Given the description of an element on the screen output the (x, y) to click on. 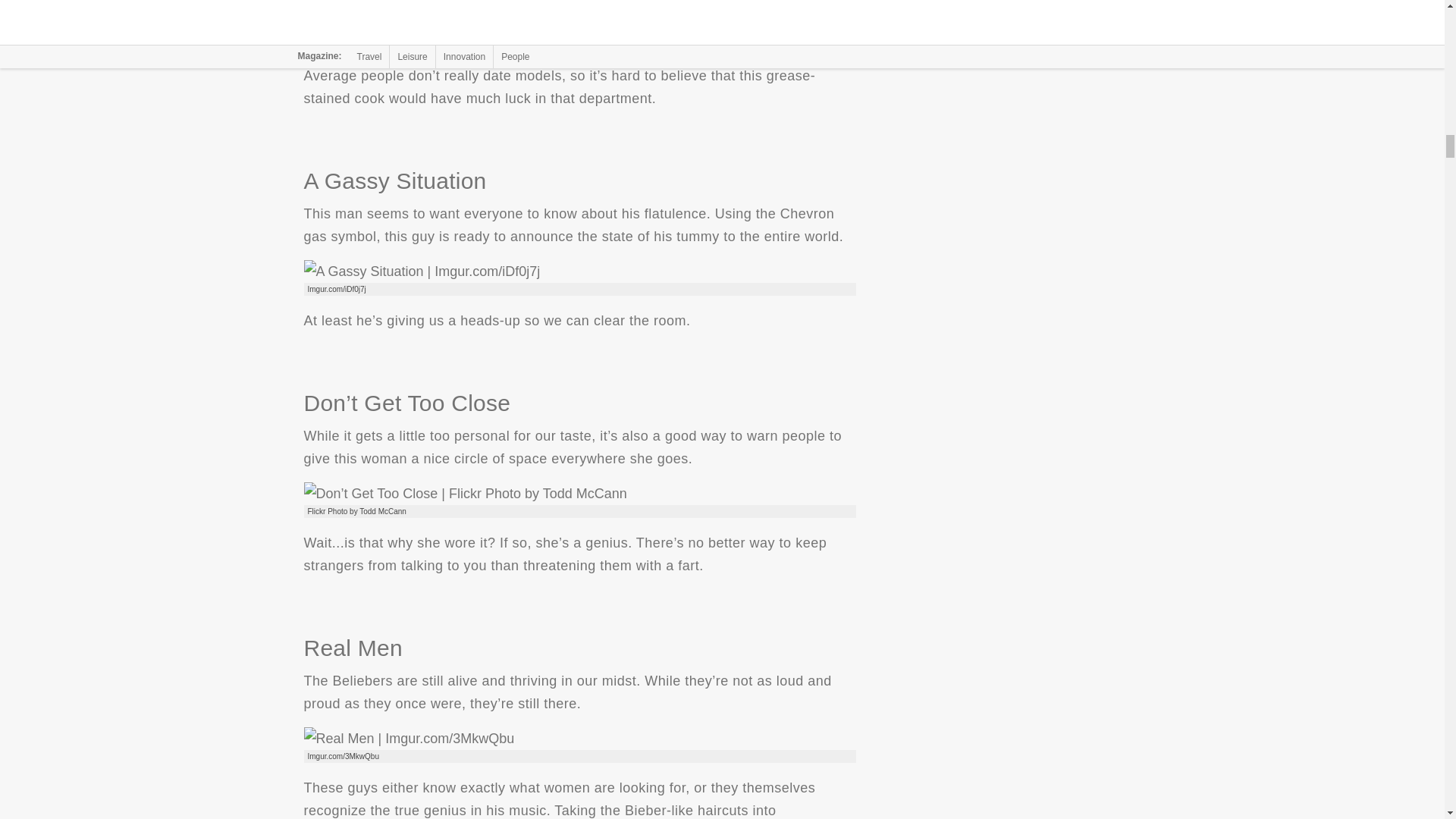
A Gassy Situation (421, 271)
Real Men (407, 738)
Clear Expectations (433, 26)
